Given the description of an element on the screen output the (x, y) to click on. 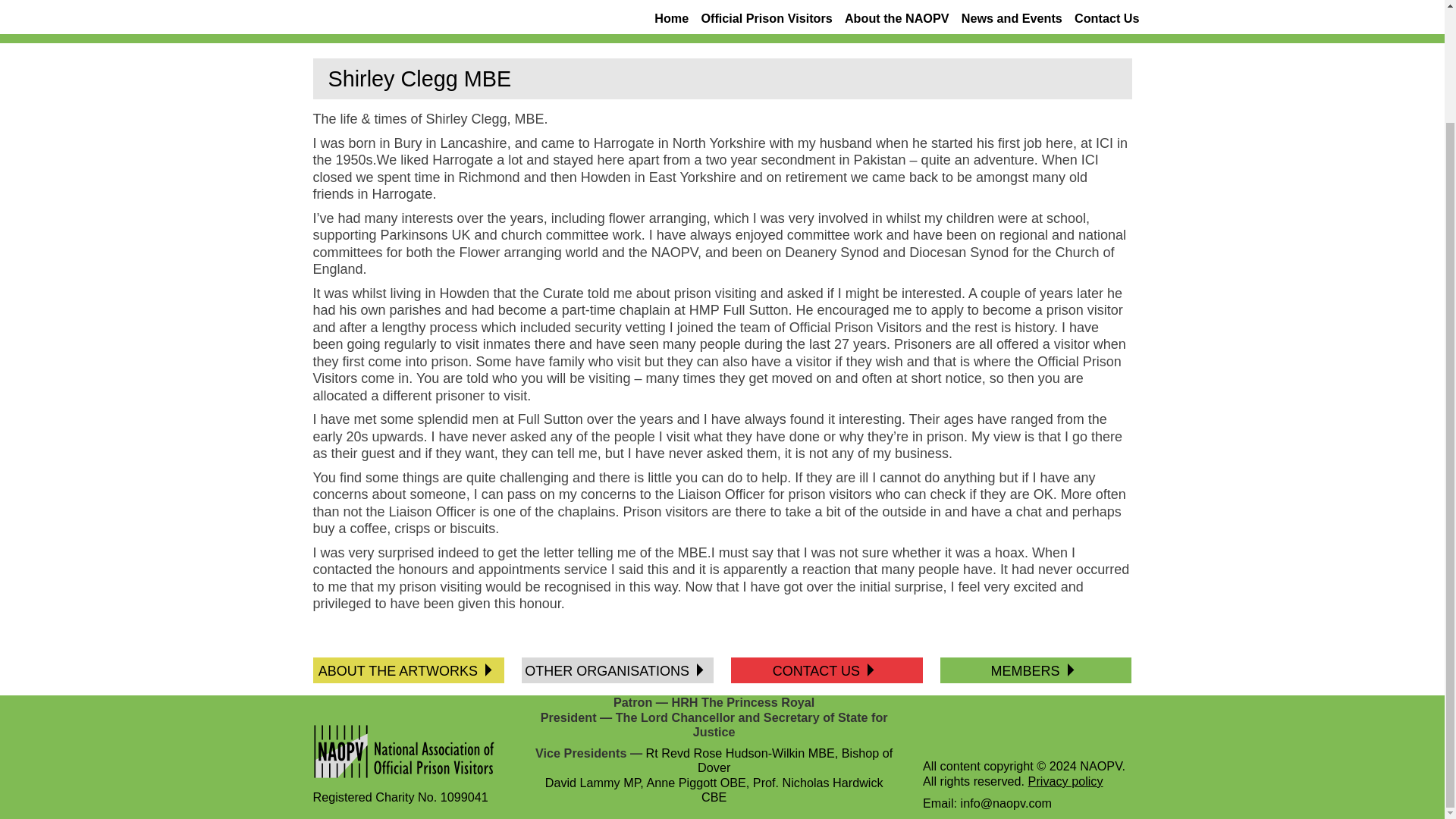
About the NAOPV (896, 19)
MEMBERS   (1029, 670)
News and Events (1011, 19)
Official Prison Visitors (765, 19)
Privacy policy (1065, 780)
Contact Us (1106, 19)
Home (670, 19)
ABOUT THE ARTWORKS   (401, 670)
CONTACT US   (820, 670)
OTHER ORGANISATIONS   (610, 670)
